Given the description of an element on the screen output the (x, y) to click on. 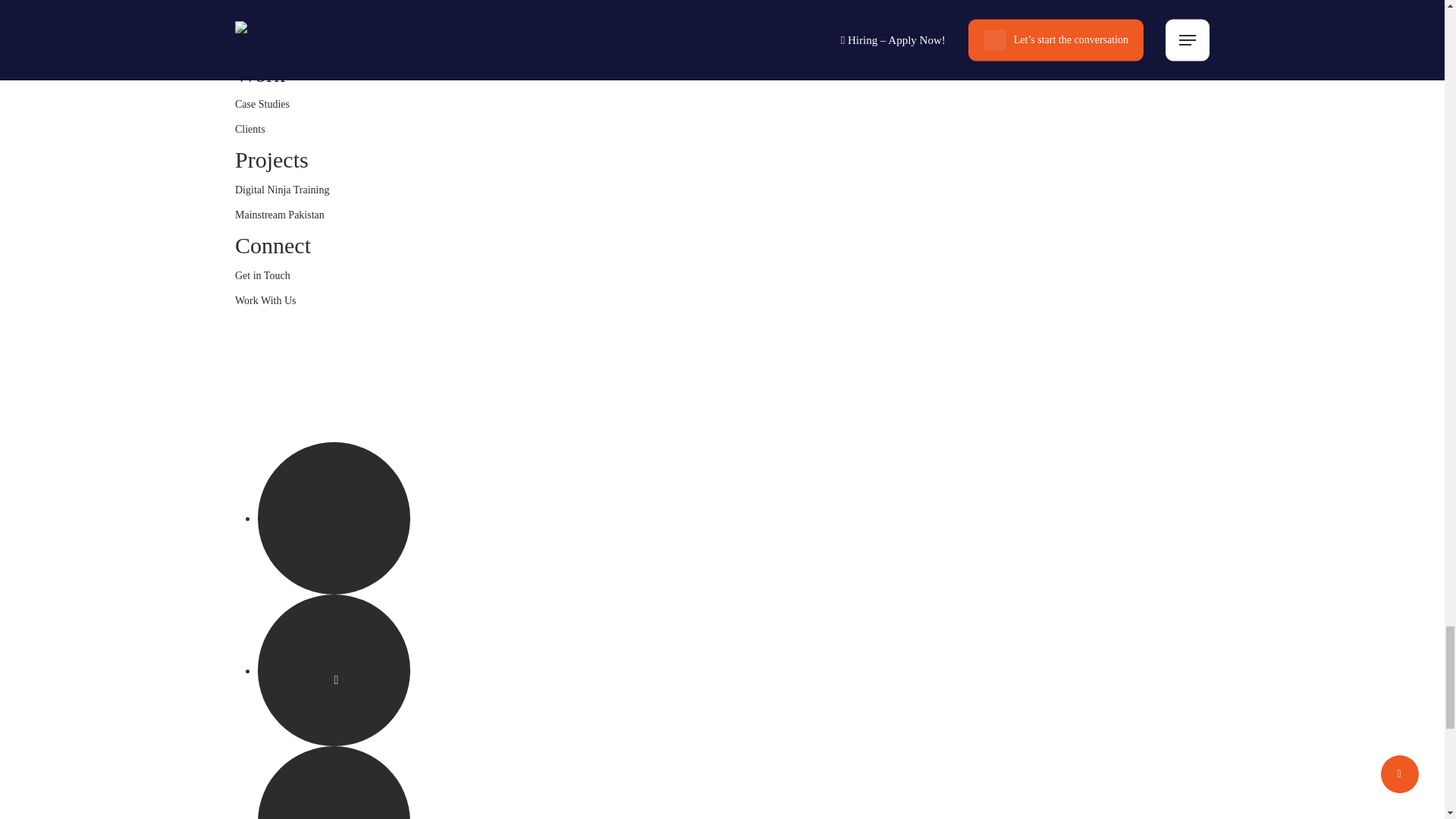
Clients (249, 133)
Digital Ninja Training (281, 193)
Work With Us (265, 304)
Case Studies (261, 108)
Get in Touch (261, 279)
Our Story (256, 22)
Mainstream Pakistan (279, 219)
